Given the description of an element on the screen output the (x, y) to click on. 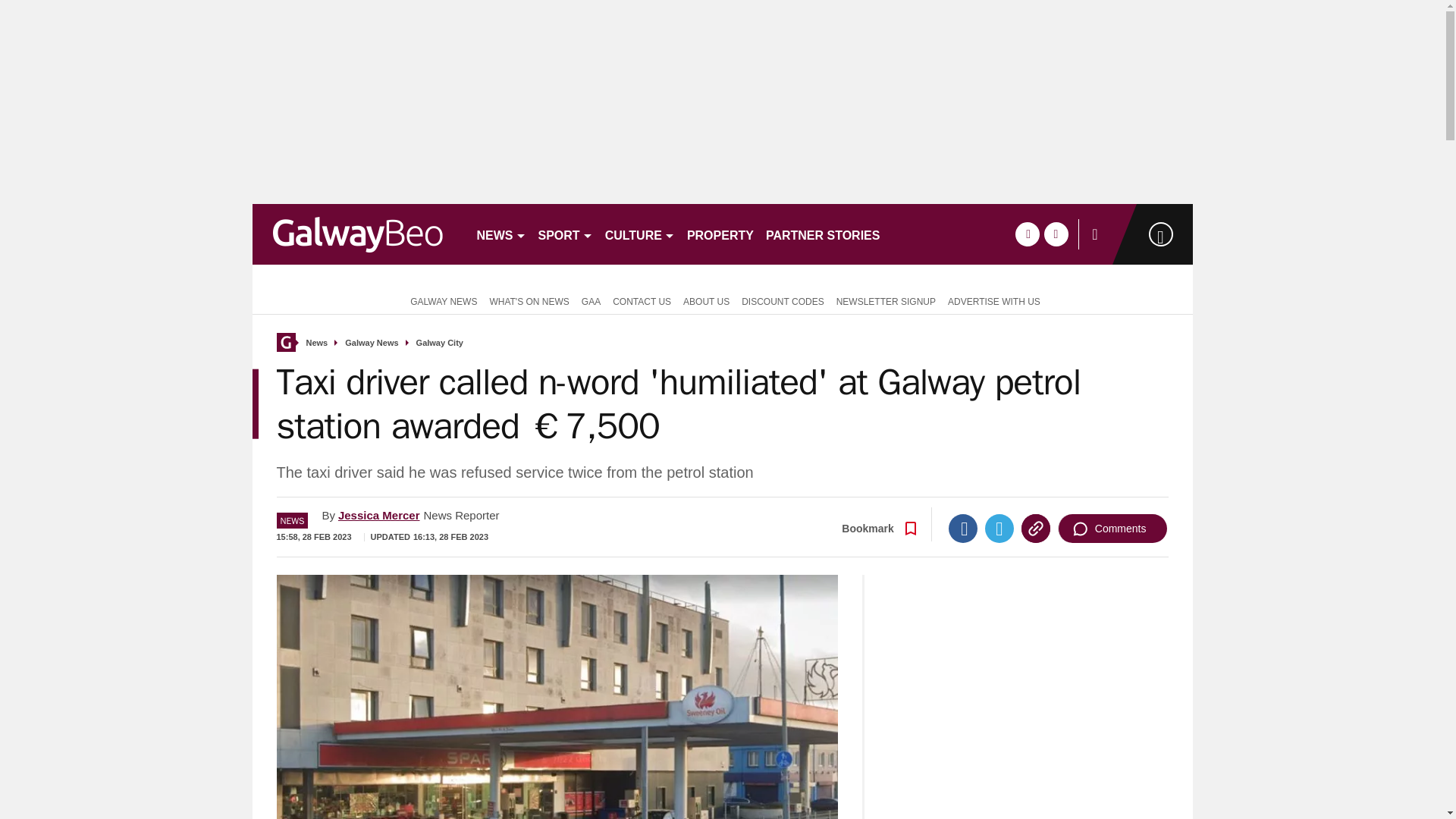
CONTACT US (642, 300)
PARTNER STORIES (823, 233)
News (317, 343)
Galway City (439, 343)
ABOUT US (706, 300)
facebook (1026, 233)
NEWS (500, 233)
WHAT'S ON NEWS (529, 300)
NEWSLETTER SIGNUP (885, 300)
SPORT (565, 233)
Facebook (962, 528)
GAA (591, 300)
CULTURE (639, 233)
GALWAY NEWS (440, 300)
twitter (1055, 233)
